Given the description of an element on the screen output the (x, y) to click on. 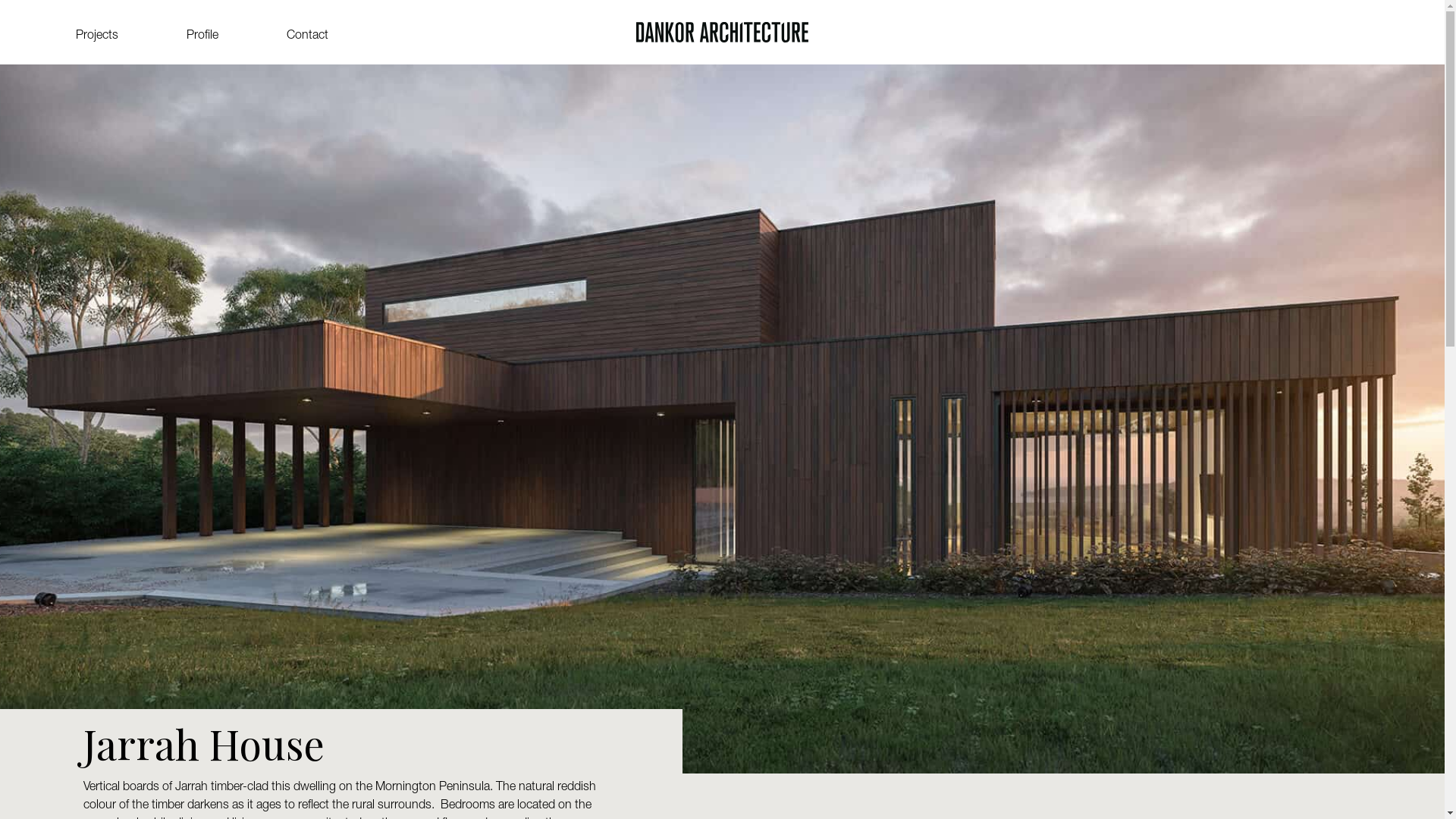
Projects Element type: text (96, 36)
Profile Element type: text (202, 36)
Contact Element type: text (307, 36)
